Given the description of an element on the screen output the (x, y) to click on. 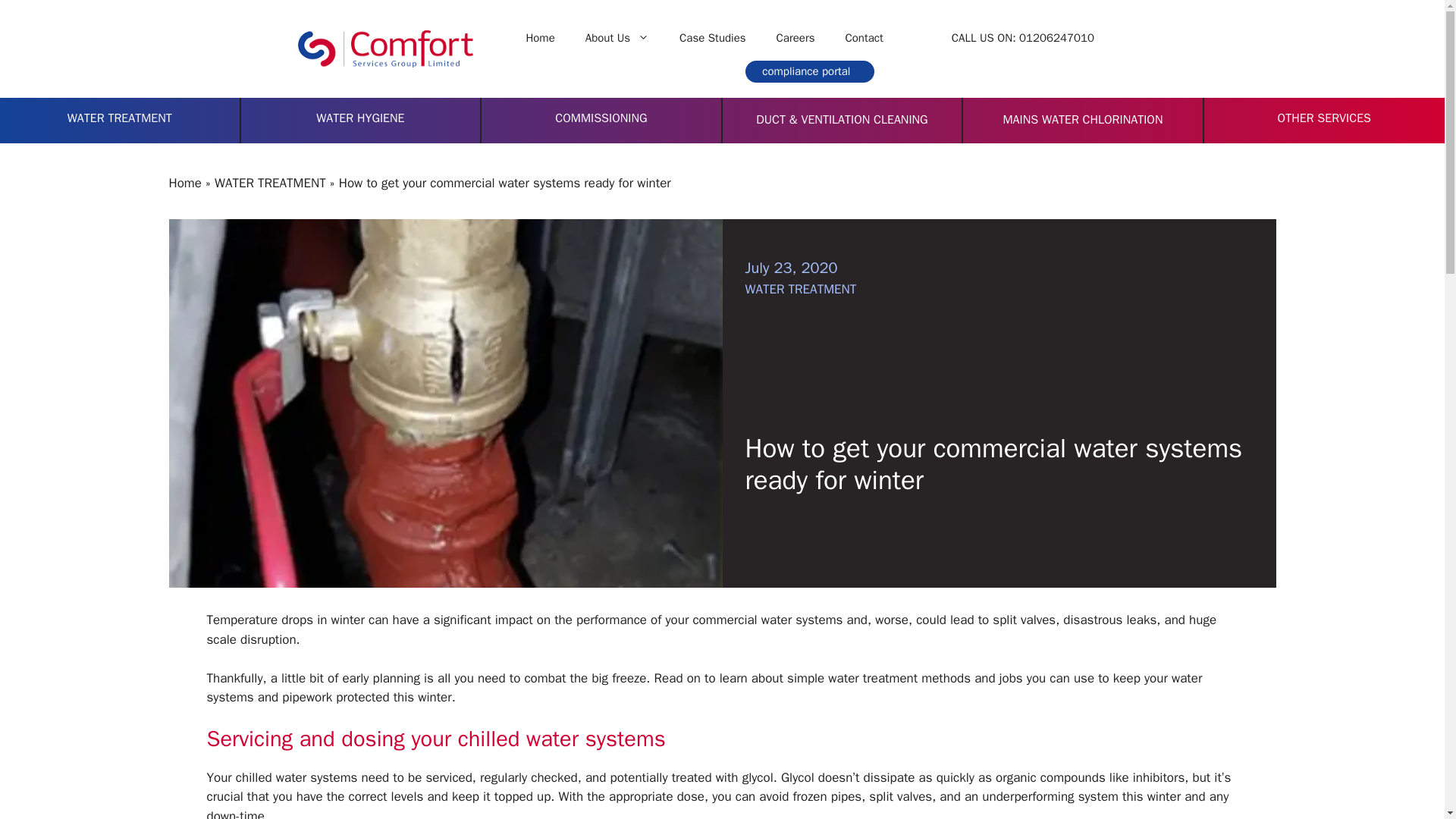
Careers (795, 37)
WATER TREATMENT (118, 118)
compliance portal (810, 71)
Contact (863, 37)
WATER TREATMENT (270, 182)
CALL US ON: 01206247010 (1022, 37)
Home (184, 182)
MAINS WATER CHLORINATION (1082, 120)
COMMISSIONING (600, 118)
Home (540, 37)
